Given the description of an element on the screen output the (x, y) to click on. 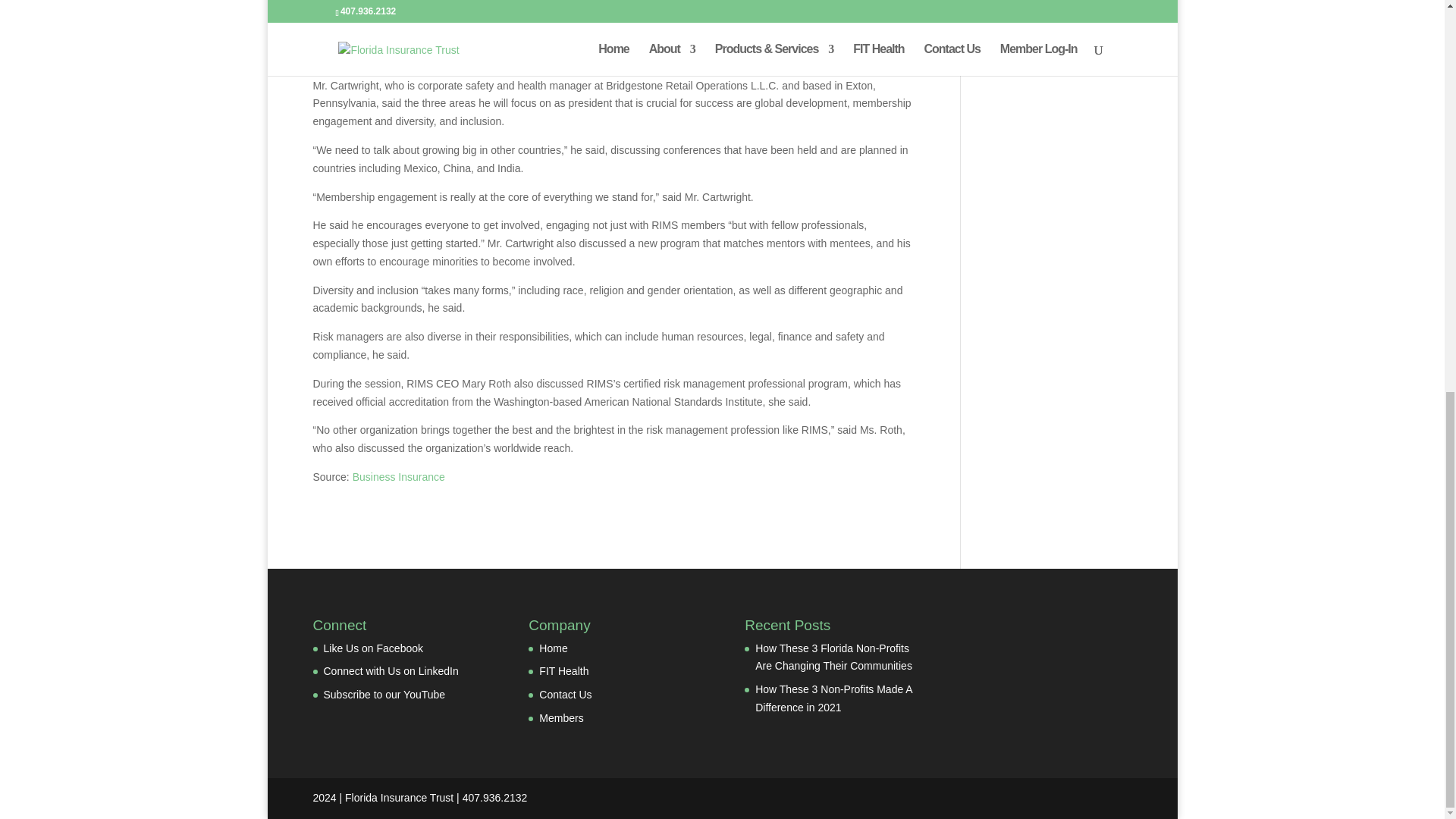
FIT Health (563, 671)
Contact Us (564, 694)
Business Insurance (398, 476)
Like Us on Facebook (373, 648)
Members (560, 717)
How These 3 Non-Profits Made A Difference in 2021 (833, 698)
Home (552, 648)
Connect with Us on LinkedIn (390, 671)
Subscribe to our YouTube (384, 694)
